Given the description of an element on the screen output the (x, y) to click on. 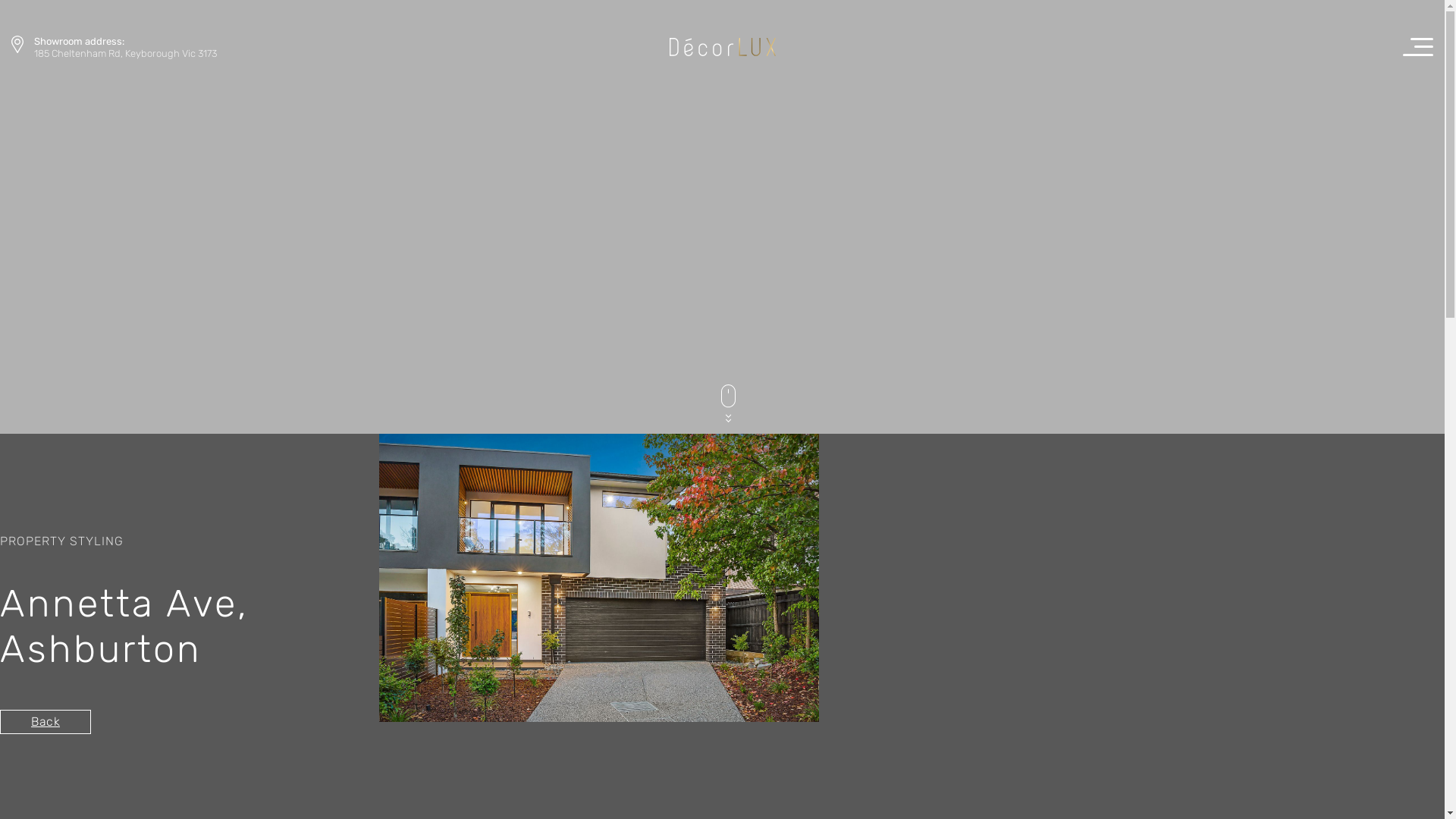
Back Element type: text (45, 721)
Annetta Ave, Ashburton Element type: hover (599, 577)
